Given the description of an element on the screen output the (x, y) to click on. 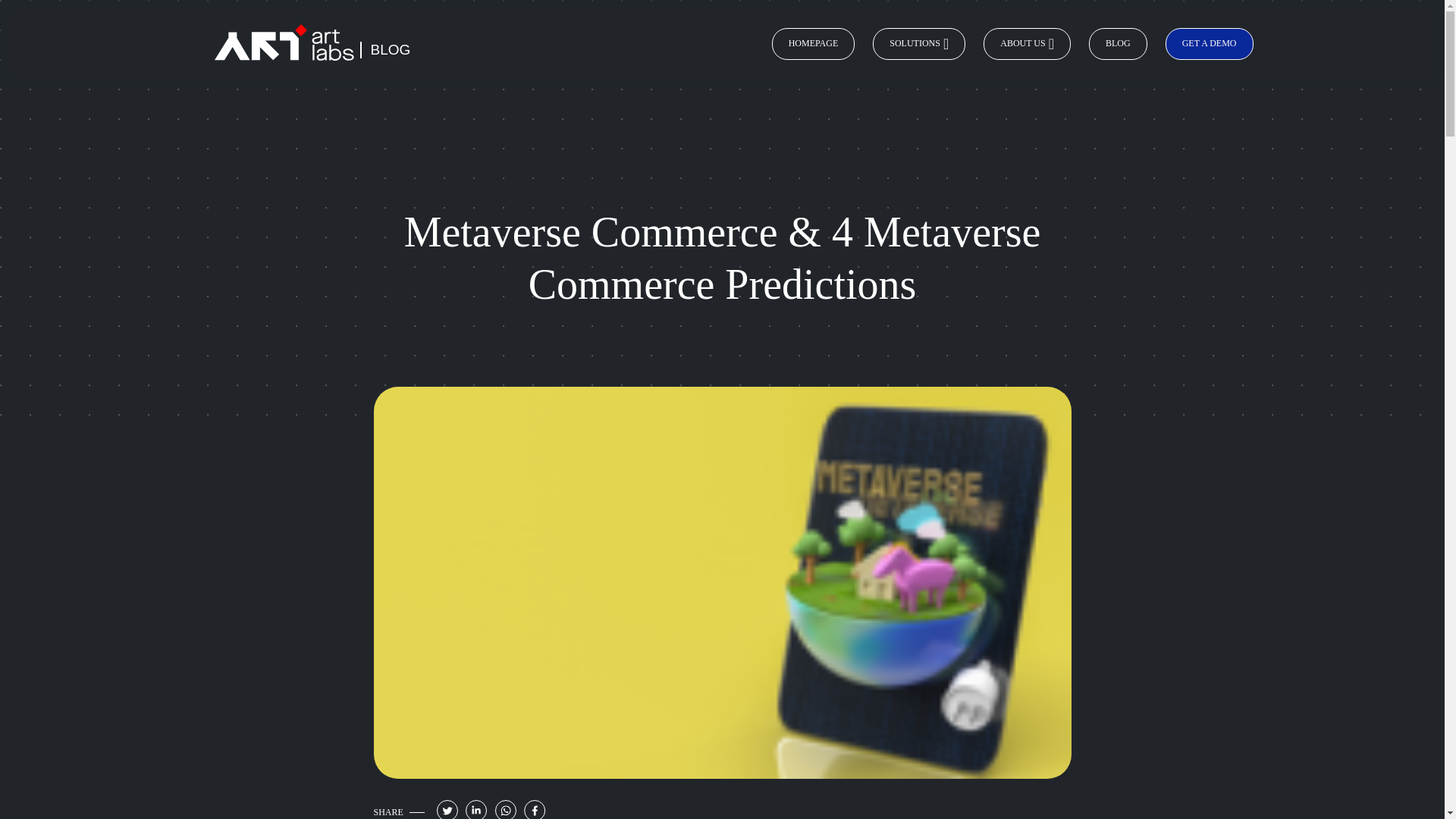
HOMEPAGE (813, 43)
BLOG (1118, 43)
GET A DEMO (1209, 43)
BLOG (389, 49)
